Given the description of an element on the screen output the (x, y) to click on. 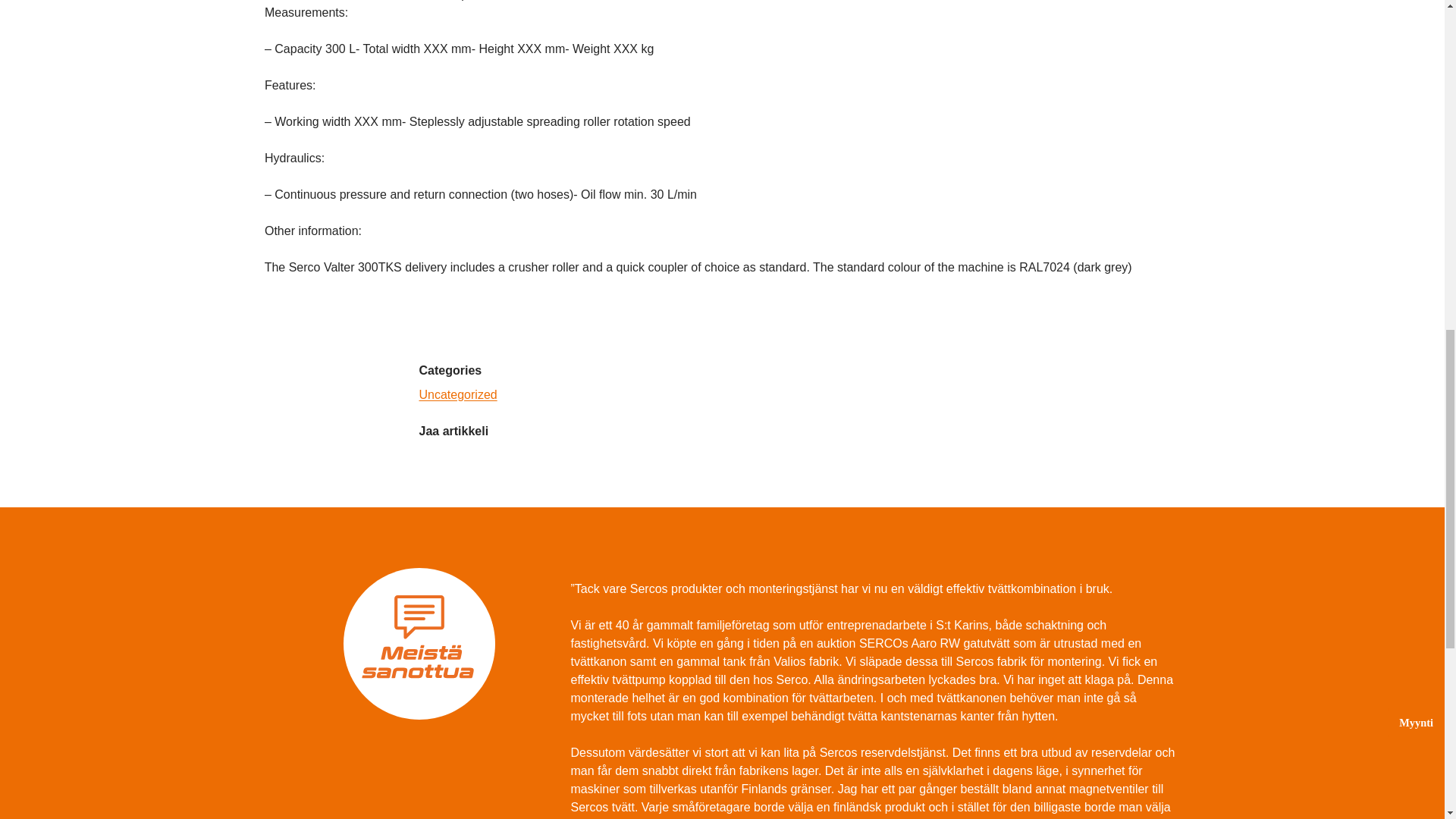
Share on WhatsApp (521, 459)
Share on Twitter (459, 459)
Share on Facebook (429, 459)
Uncategorized (457, 394)
Share on LinkedIn (490, 459)
